Given the description of an element on the screen output the (x, y) to click on. 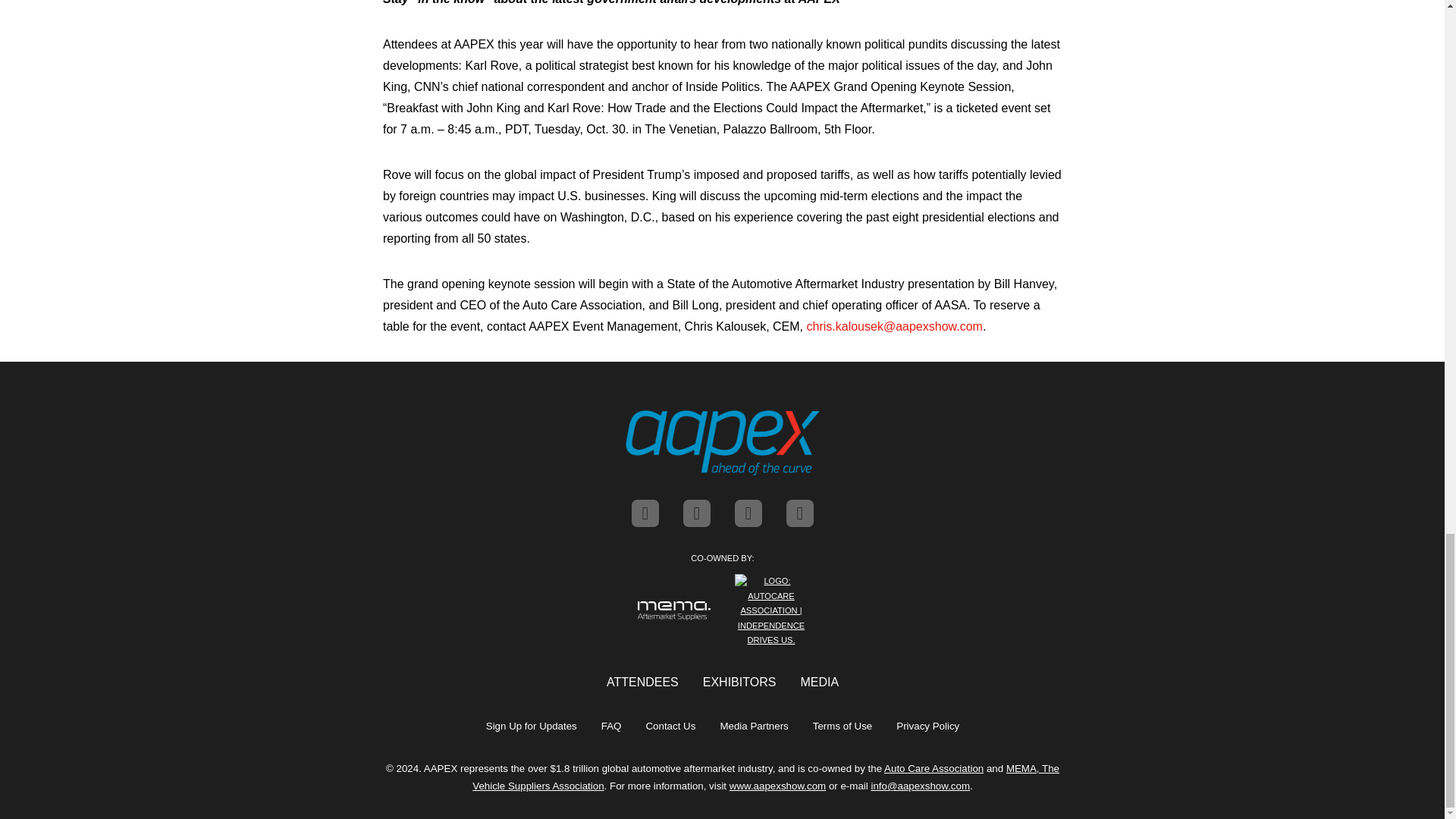
AAPEX 2024 (721, 442)
